Given the description of an element on the screen output the (x, y) to click on. 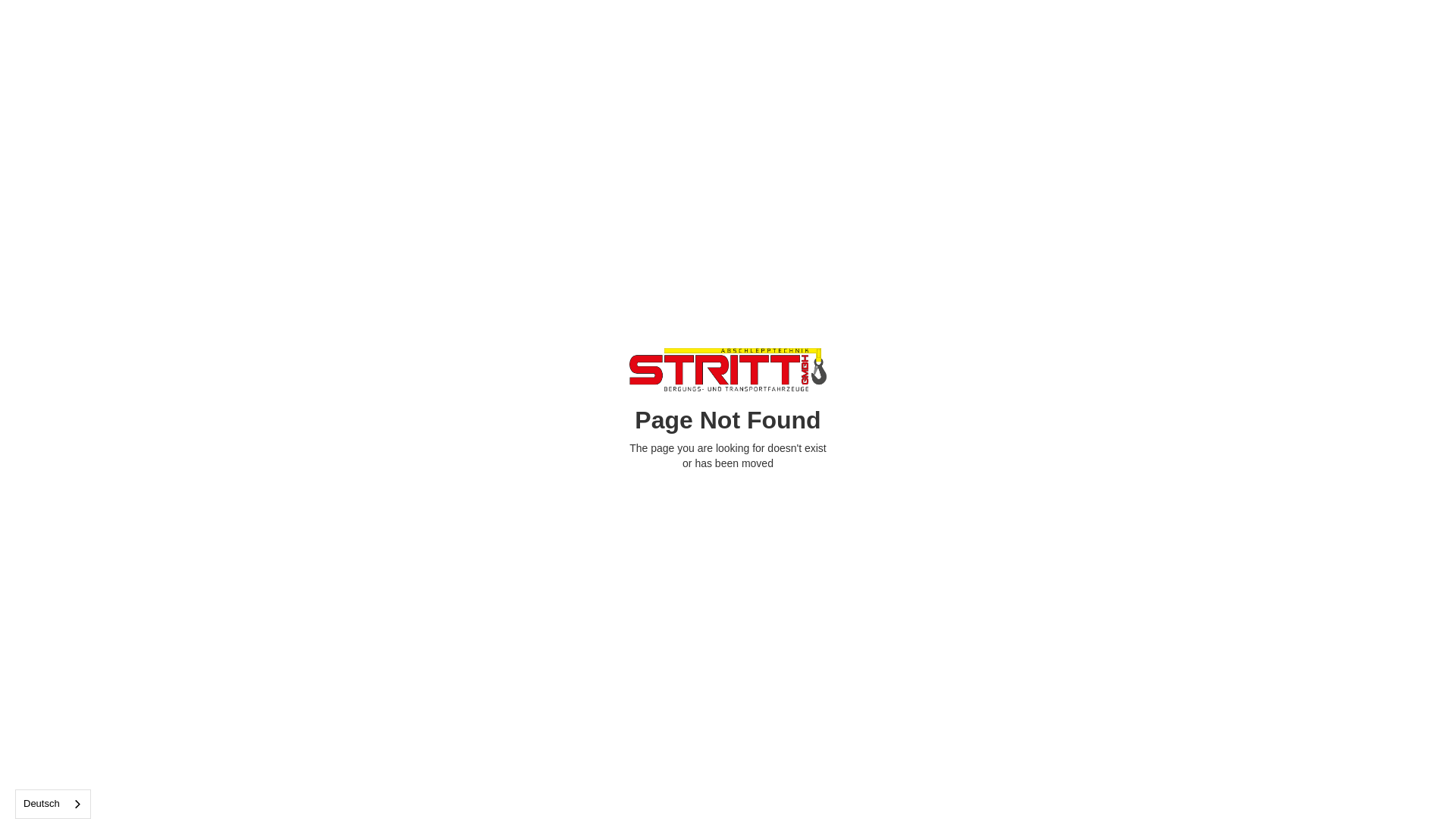
Deutsch Element type: text (52, 804)
